Given the description of an element on the screen output the (x, y) to click on. 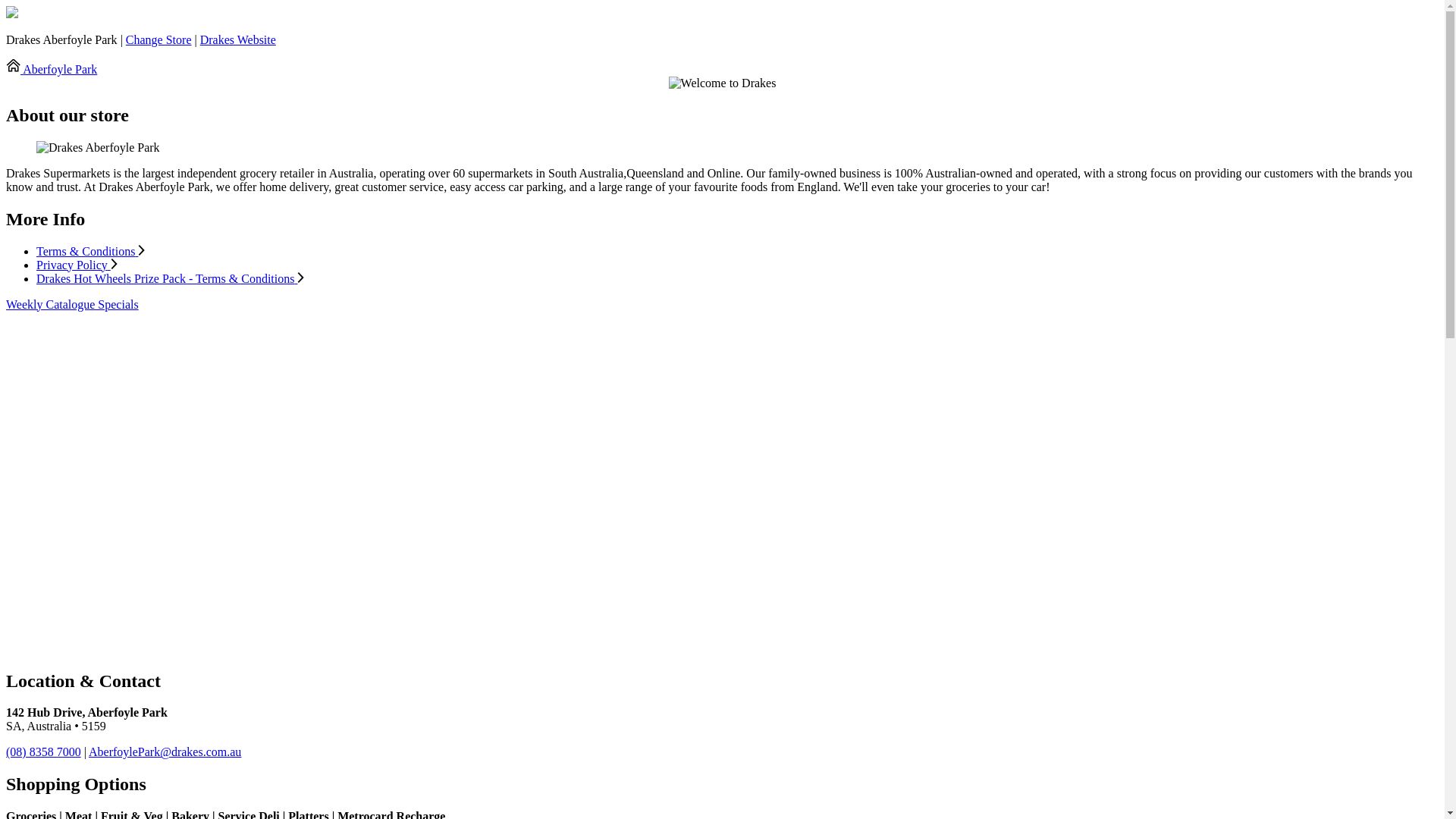
Change Store Element type: text (158, 39)
Drakes Website Element type: text (238, 39)
Privacy Policy Element type: text (737, 265)
AberfoylePark@drakes.com.au Element type: text (164, 751)
Drakes Hot Wheels Prize Pack - Terms & Conditions Element type: text (737, 278)
Terms & Conditions Element type: text (737, 251)
Aberfoyle Park Element type: text (51, 68)
Weekly Catalogue Specials Element type: text (72, 304)
(08) 8358 7000 Element type: text (43, 751)
